Given the description of an element on the screen output the (x, y) to click on. 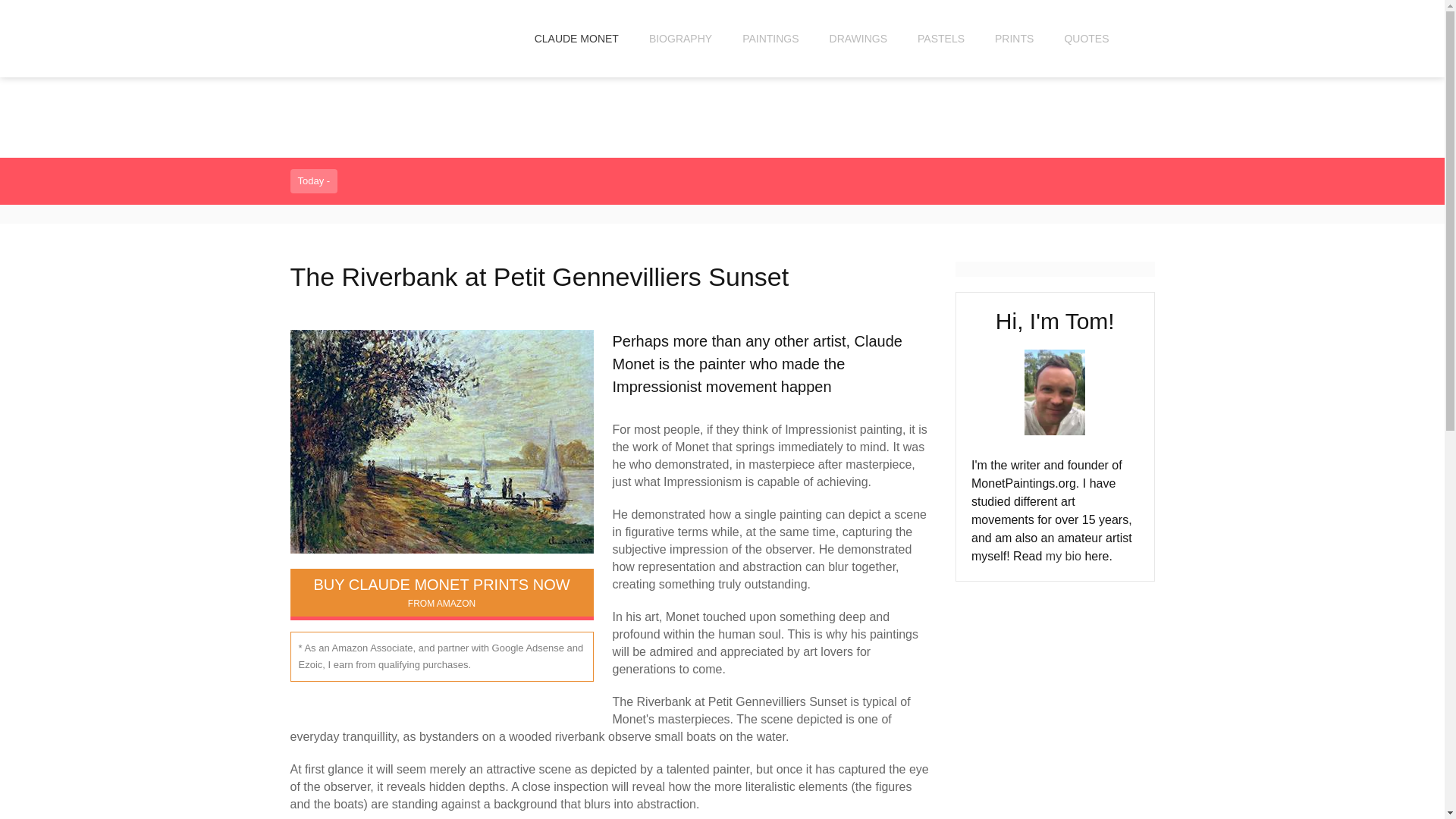
PRINTS (1013, 38)
CLAUDE MONET (576, 38)
PAINTINGS (769, 38)
DRAWINGS (857, 38)
my bio (1063, 555)
BIOGRAPHY (440, 592)
PASTELS (679, 38)
QUOTES (940, 38)
